Given the description of an element on the screen output the (x, y) to click on. 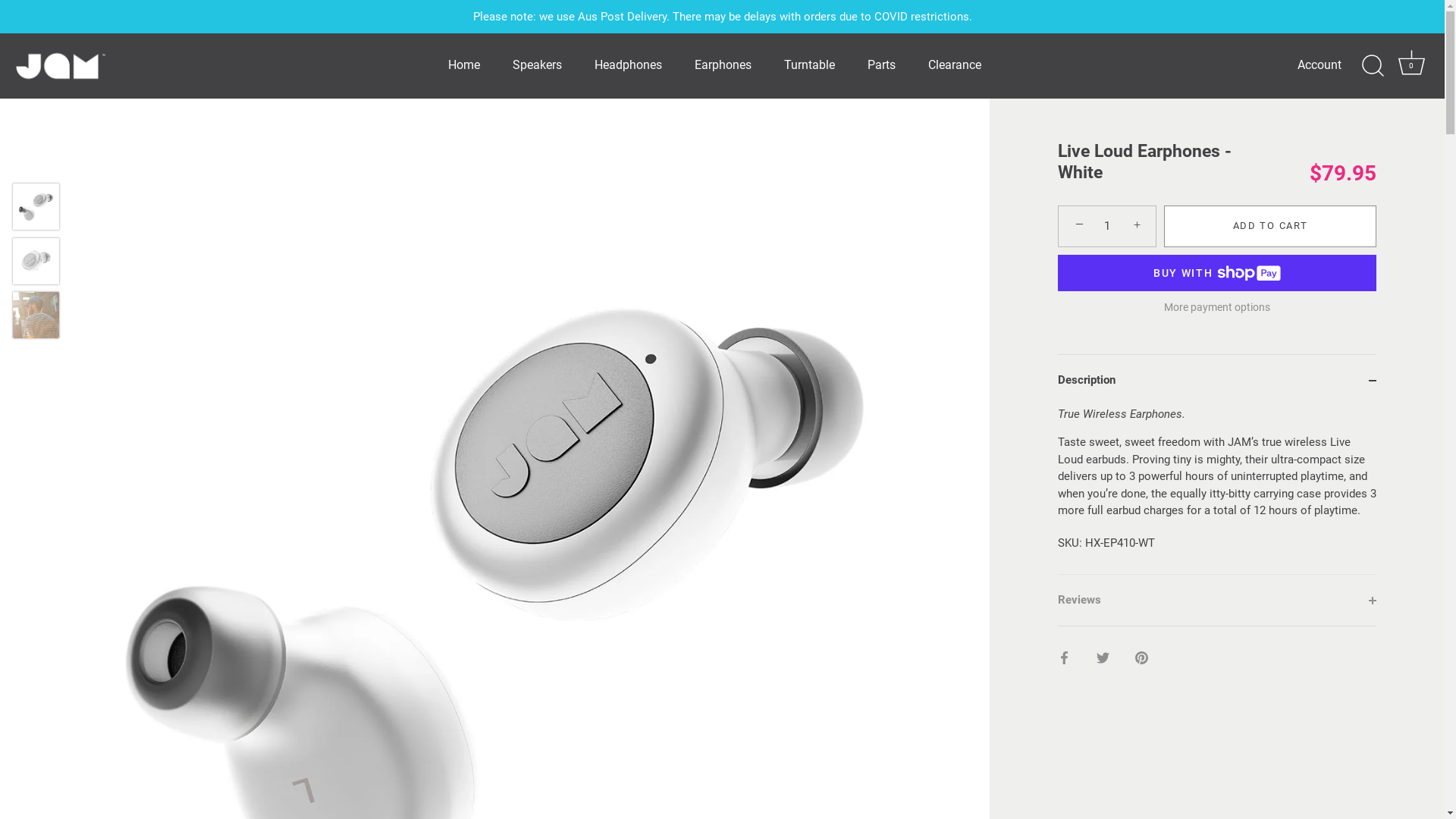
Share on Facebook Element type: text (1063, 657)
Cart
0 Element type: text (1410, 65)
Headphones Element type: text (628, 65)
Description Element type: text (1216, 379)
Turntable Element type: text (808, 65)
Speakers Element type: text (537, 65)
ADD TO CART Element type: text (1270, 225)
More payment options Element type: text (1216, 307)
Earphones Element type: text (723, 65)
Home Element type: text (464, 65)
+ Element type: text (1138, 224)
Clearance Element type: text (954, 65)
Share on Twitter Element type: text (1102, 657)
Account Element type: text (1332, 65)
Parts Element type: text (881, 65)
Reviews Element type: text (1216, 599)
Pin it Element type: text (1141, 657)
